Given the description of an element on the screen output the (x, y) to click on. 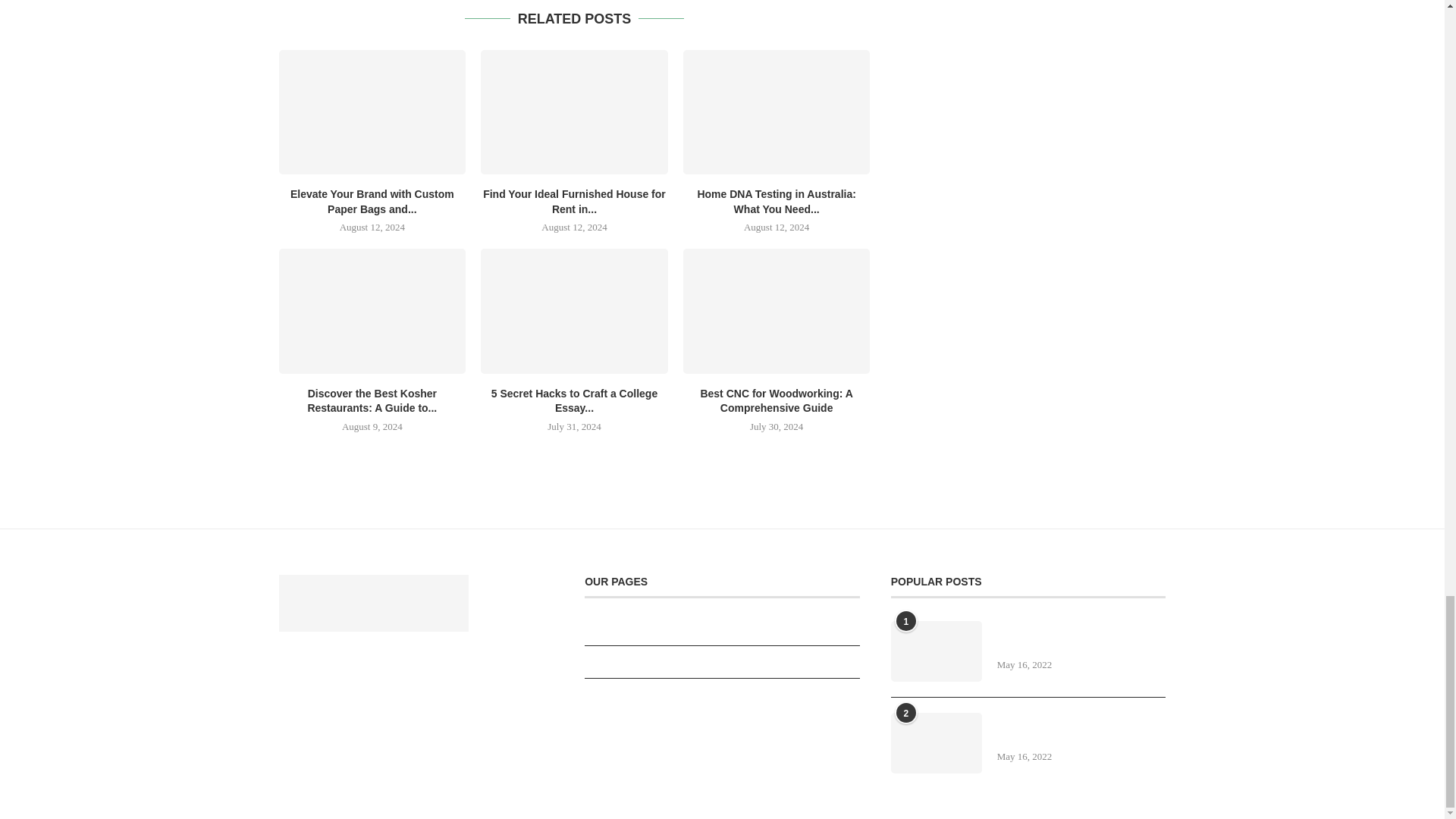
Home DNA Testing in Australia: What You Need to Know (776, 111)
Best CNC for Woodworking: A Comprehensive Guide (776, 310)
Find Your Ideal Furnished House for Rent in Pinehurst (574, 111)
